Given the description of an element on the screen output the (x, y) to click on. 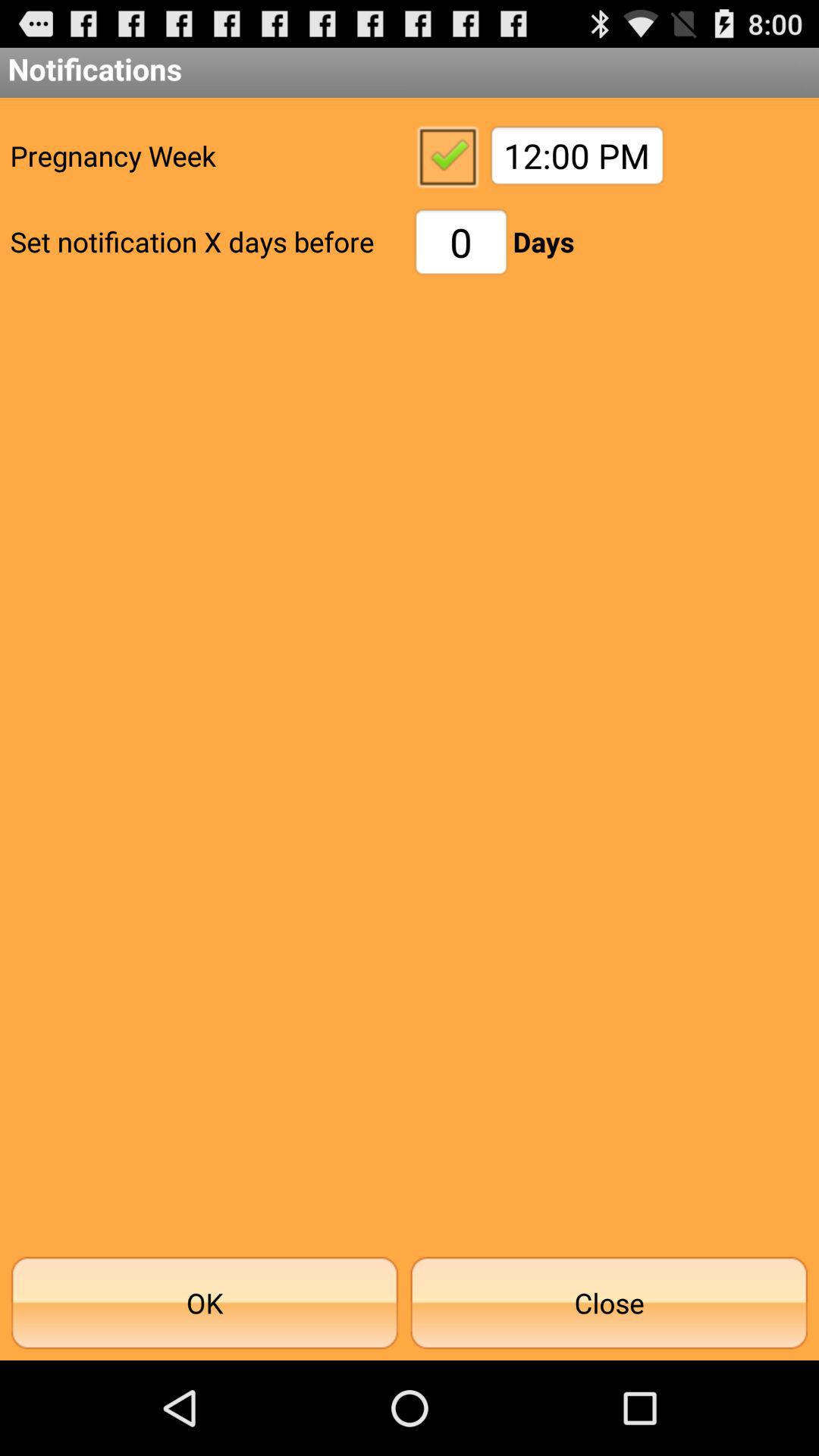
turn off the icon at the bottom right corner (608, 1302)
